Given the description of an element on the screen output the (x, y) to click on. 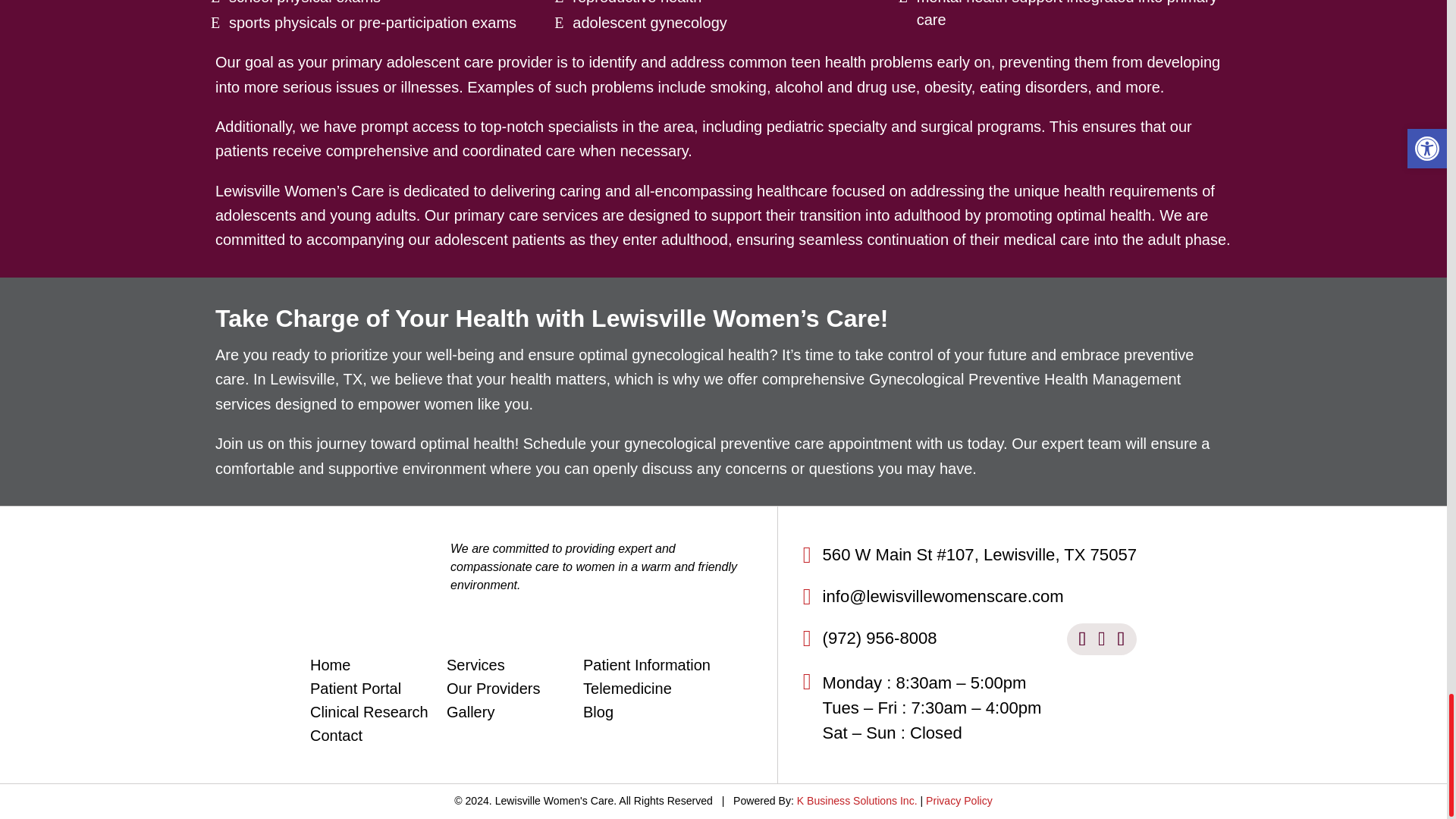
Clinical Research (369, 715)
Home (330, 668)
Services (475, 668)
Patient Information (646, 668)
Our Providers (493, 691)
Telemedicine (627, 691)
Patient Portal (355, 691)
Gallery (470, 715)
